Given the description of an element on the screen output the (x, y) to click on. 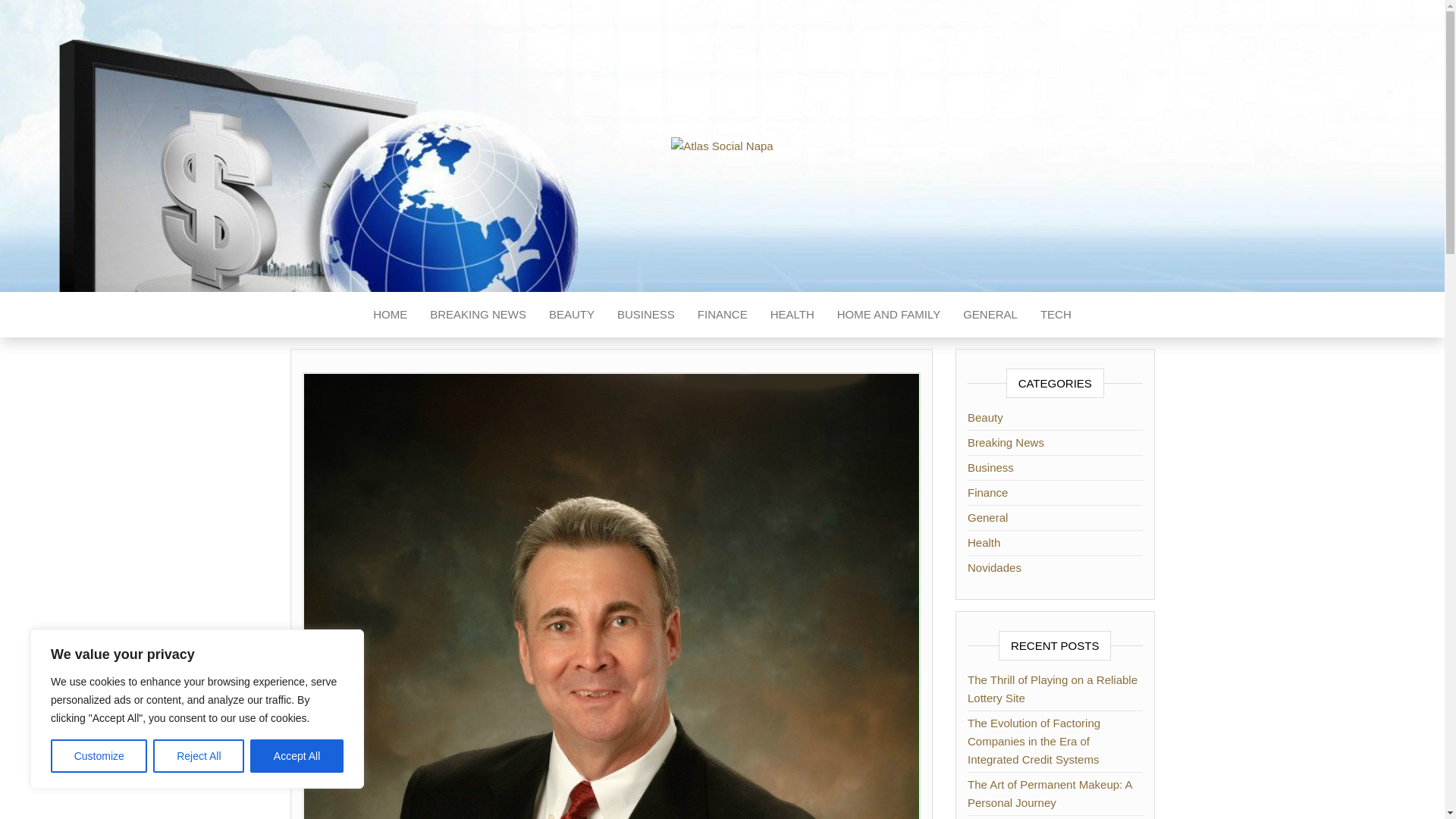
Beauty (571, 314)
TECH (1056, 314)
Business (990, 467)
BEAUTY (571, 314)
Breaking News (478, 314)
BUSINESS (645, 314)
General (990, 314)
Health (791, 314)
Reject All (198, 756)
Beauty (985, 417)
Novidades (995, 567)
Tech (1056, 314)
FINANCE (721, 314)
Home (390, 314)
Breaking News (1005, 441)
